Given the description of an element on the screen output the (x, y) to click on. 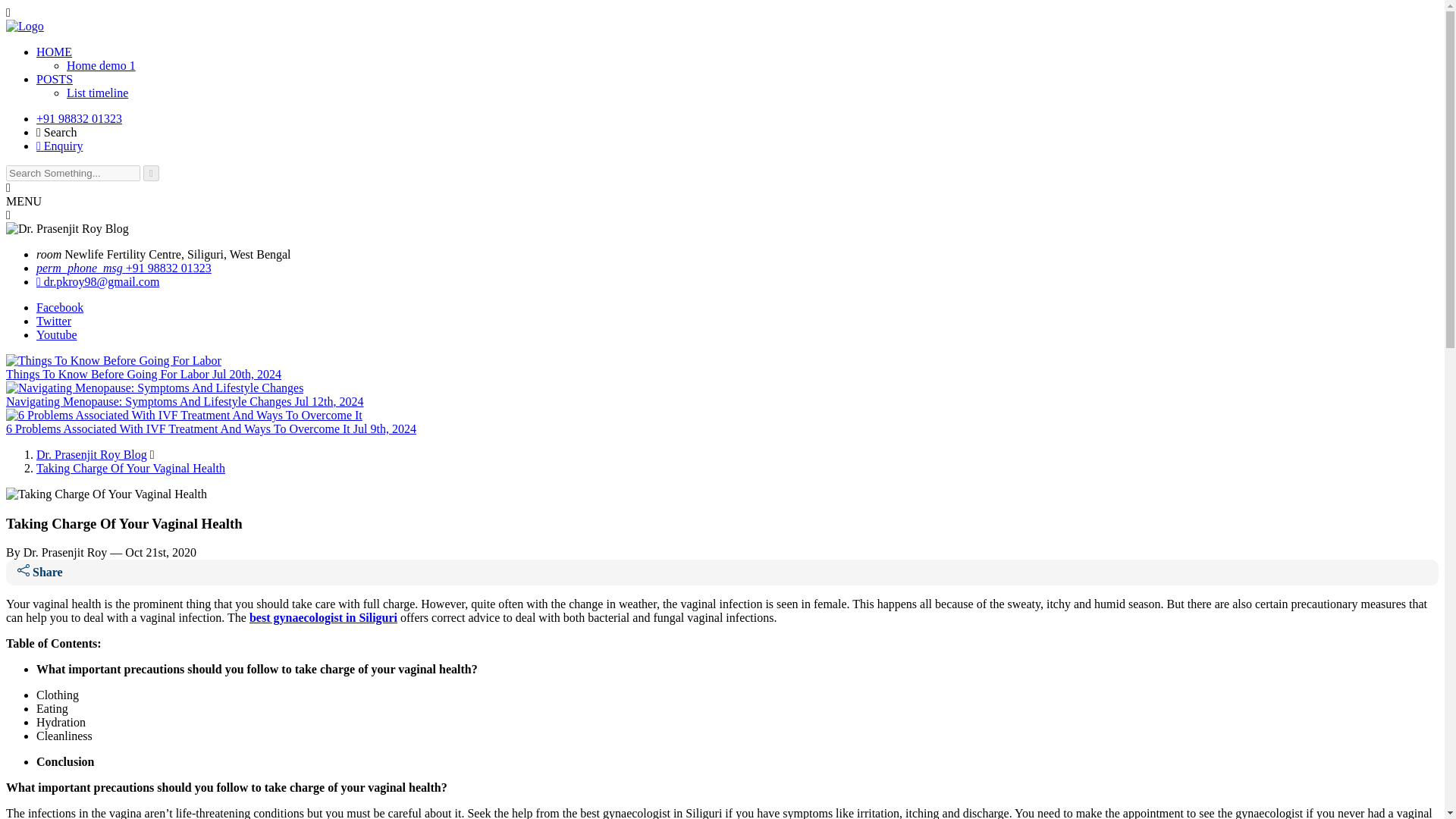
Taking Charge Of Your Vaginal Health (130, 468)
POSTS (54, 78)
Facebook (59, 307)
room Newlife Fertility Centre, Siliguri, West Bengal (163, 254)
Dr. Prasenjit Roy Blog (91, 454)
Youtube (56, 334)
best gynaecologist in Siliguri (322, 617)
By Dr. Prasenjit Roy (55, 552)
Twitter (53, 320)
HOME (53, 51)
List timeline (97, 92)
Home demo 1 (100, 65)
